Given the description of an element on the screen output the (x, y) to click on. 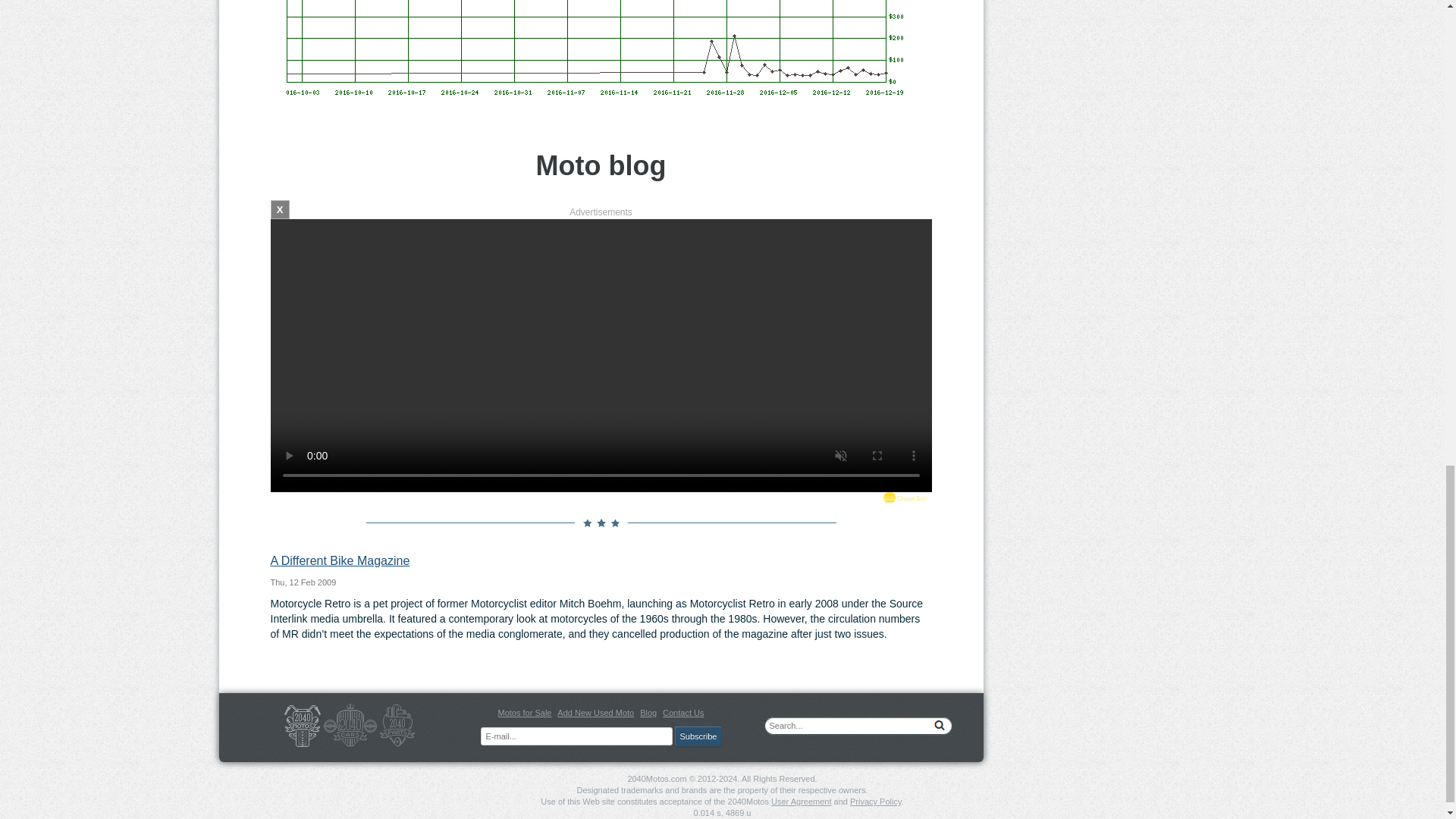
Motos for Sale (524, 712)
Add New Used Moto (595, 712)
Subscribe (697, 736)
X (278, 209)
User Agreement (801, 800)
Subscribe (697, 736)
Privacy Policy (875, 800)
Blog (648, 712)
A Different Bike Magazine (339, 560)
Cars (350, 724)
Contact Us (682, 712)
